Given the description of an element on the screen output the (x, y) to click on. 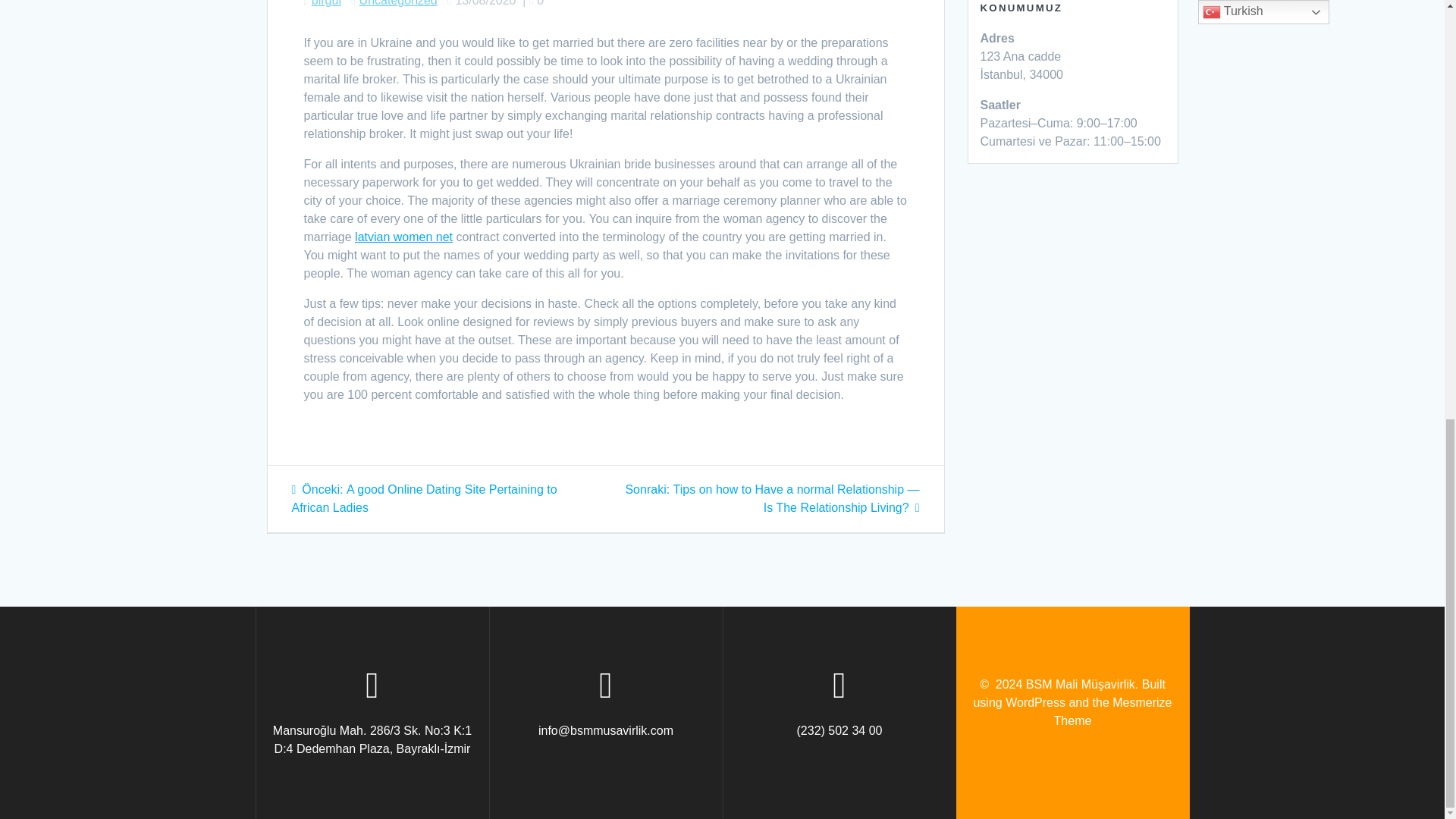
Uncategorized (398, 3)
birgul (325, 3)
latvian women net (403, 236)
Mesmerize Theme (1113, 711)
